Given the description of an element on the screen output the (x, y) to click on. 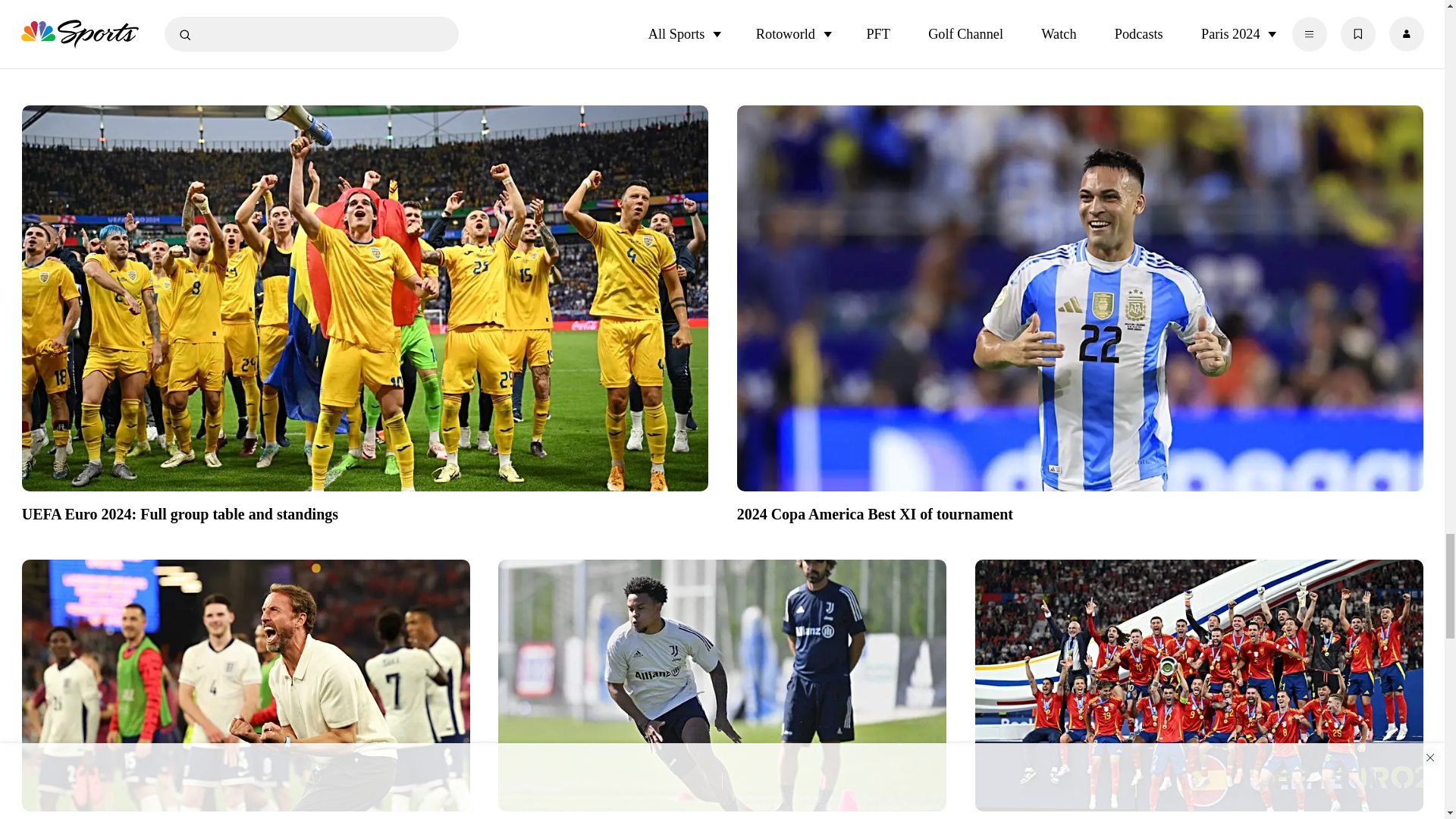
2024 Copa America Standings: Full group tables and standings (245, 38)
UEFA Euro 2024: Full group table and standings (364, 511)
